Given the description of an element on the screen output the (x, y) to click on. 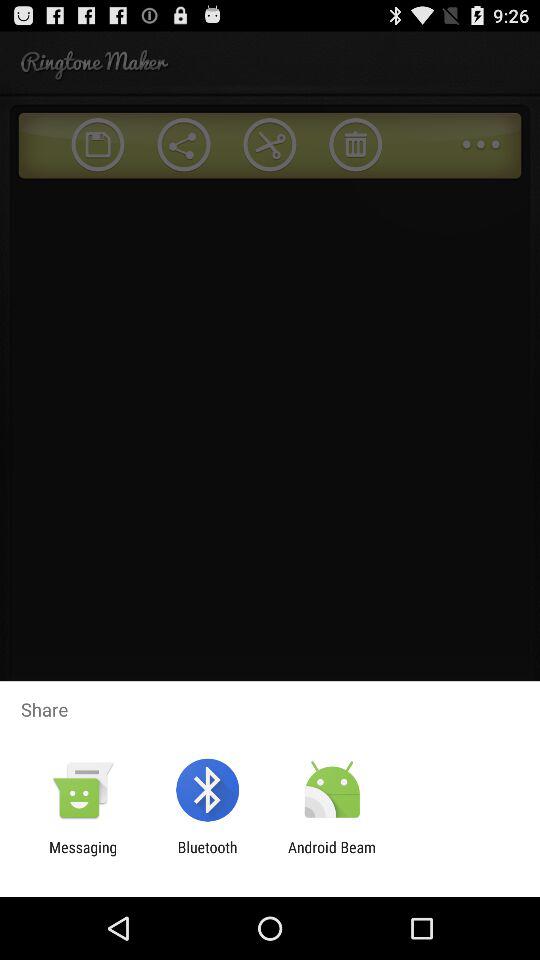
select app to the left of bluetooth app (83, 856)
